Given the description of an element on the screen output the (x, y) to click on. 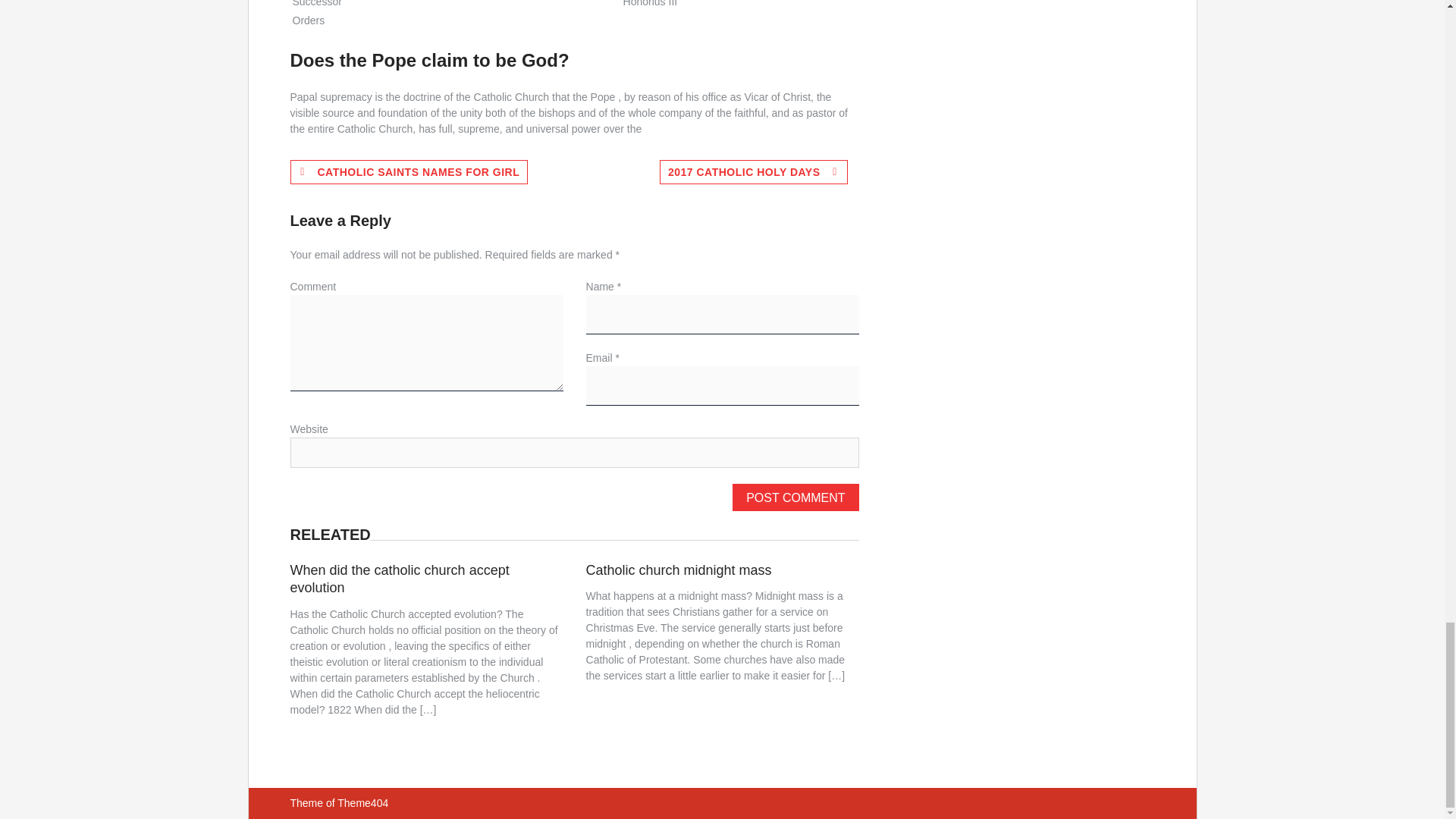
Theme404 (362, 802)
When did the catholic church accept evolution (398, 578)
2017 CATHOLIC HOLY DAYS (753, 171)
Catholic church midnight mass (678, 570)
Post Comment (795, 497)
Post Comment (795, 497)
CATHOLIC SAINTS NAMES FOR GIRL (408, 171)
